Given the description of an element on the screen output the (x, y) to click on. 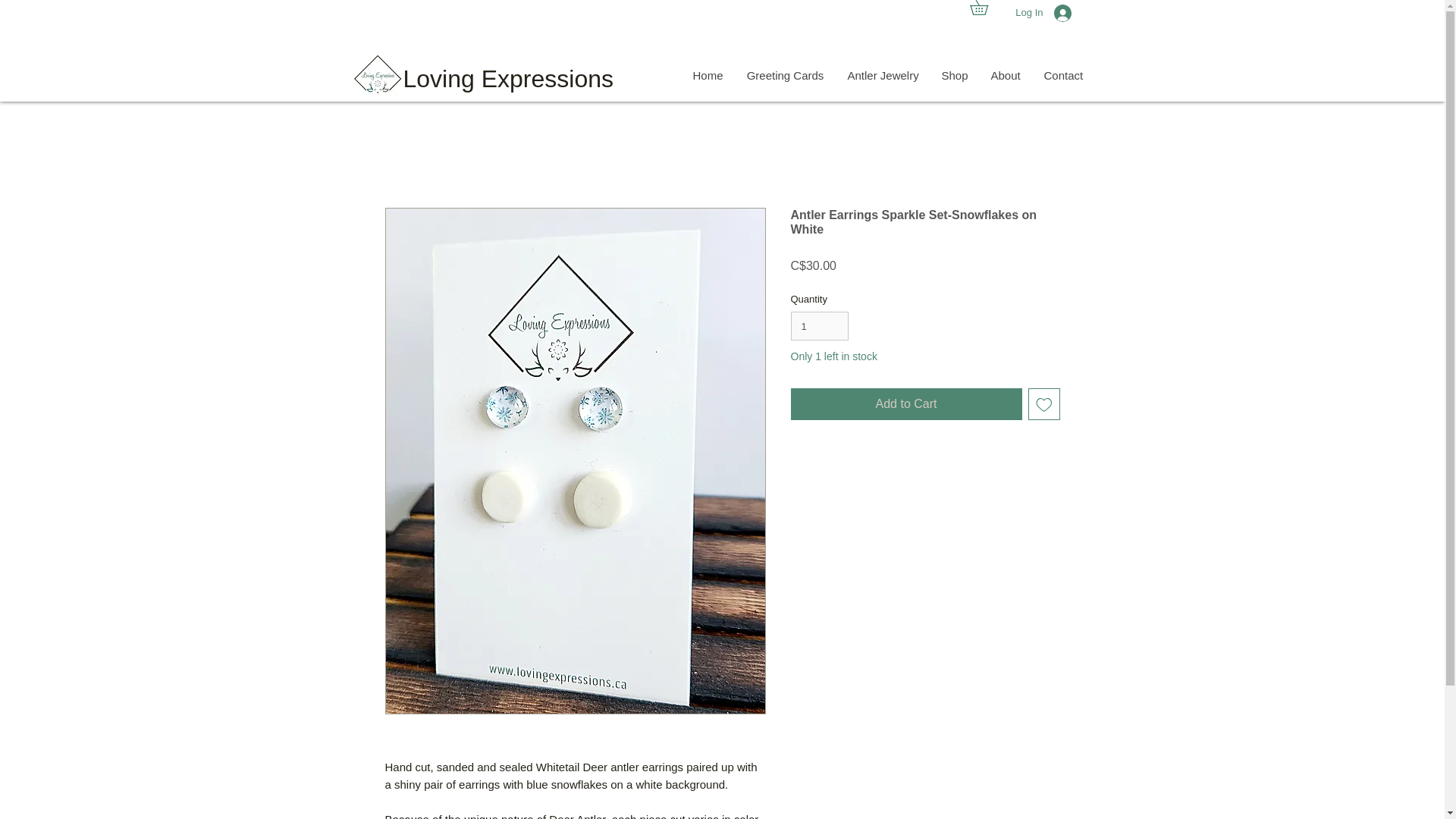
Greeting Cards (783, 75)
Contact (1061, 75)
Shop (954, 75)
1 (818, 326)
About (1004, 75)
Log In (1050, 13)
Home (708, 75)
Antler Jewelry (882, 75)
Add to Cart (906, 404)
